Given the description of an element on the screen output the (x, y) to click on. 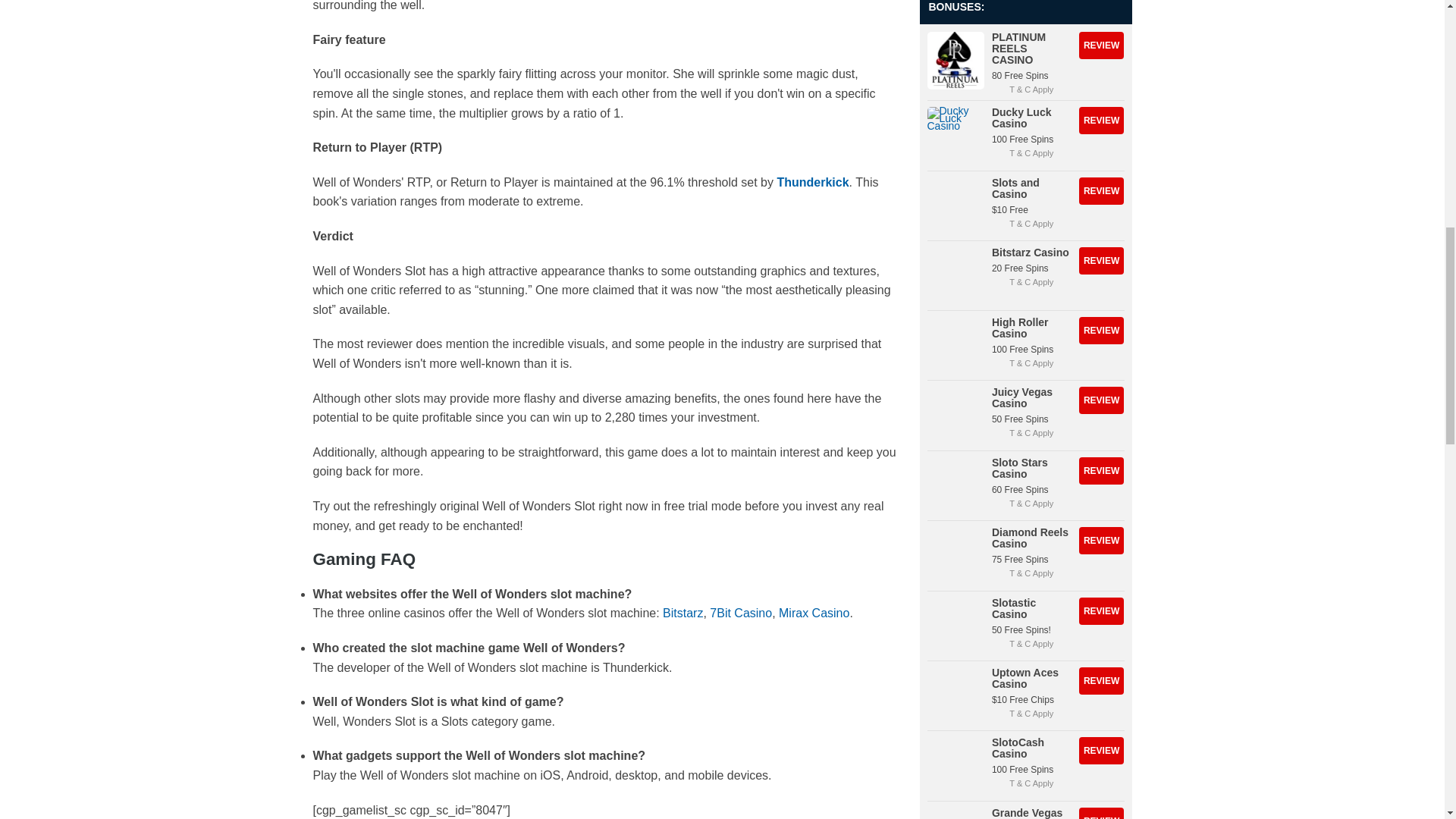
PLATINUM REELS CASINO (1101, 44)
Ducky Luck Casino (955, 135)
PLATINUM REELS CASINO (955, 59)
Ducky Luck Casino (1101, 120)
